Given the description of an element on the screen output the (x, y) to click on. 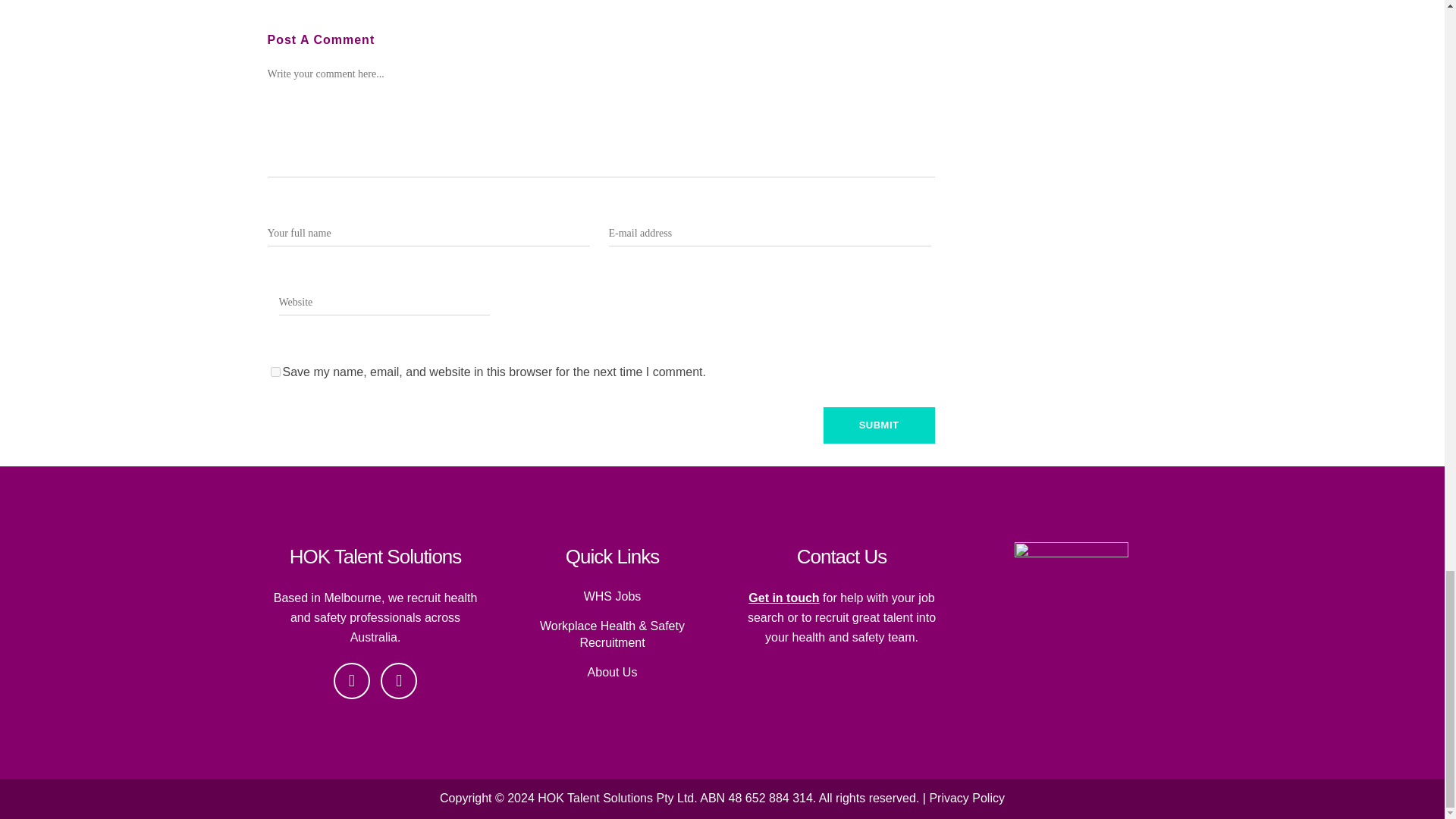
yes (274, 371)
Get in touch (783, 597)
Submit (879, 425)
About Us (611, 672)
WHS Jobs (611, 596)
Submit (879, 425)
